Given the description of an element on the screen output the (x, y) to click on. 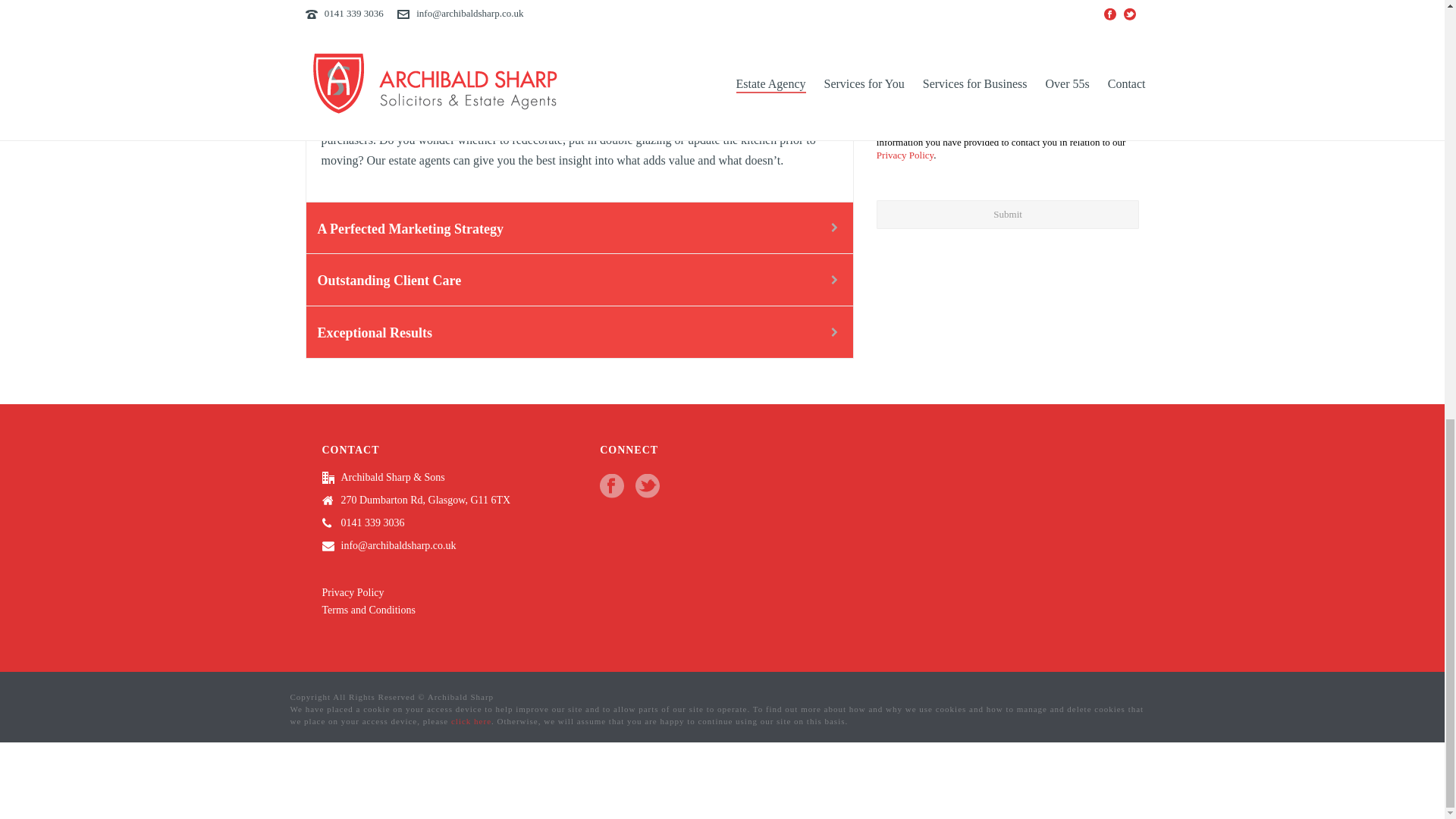
Follow Us on twitter (646, 487)
Submit (1008, 214)
Terms and Conditions (367, 609)
click here (471, 720)
Follow Us on facebook (611, 487)
Privacy Policy (904, 154)
Opt-In (884, 106)
Privacy Policy (352, 592)
